Given the description of an element on the screen output the (x, y) to click on. 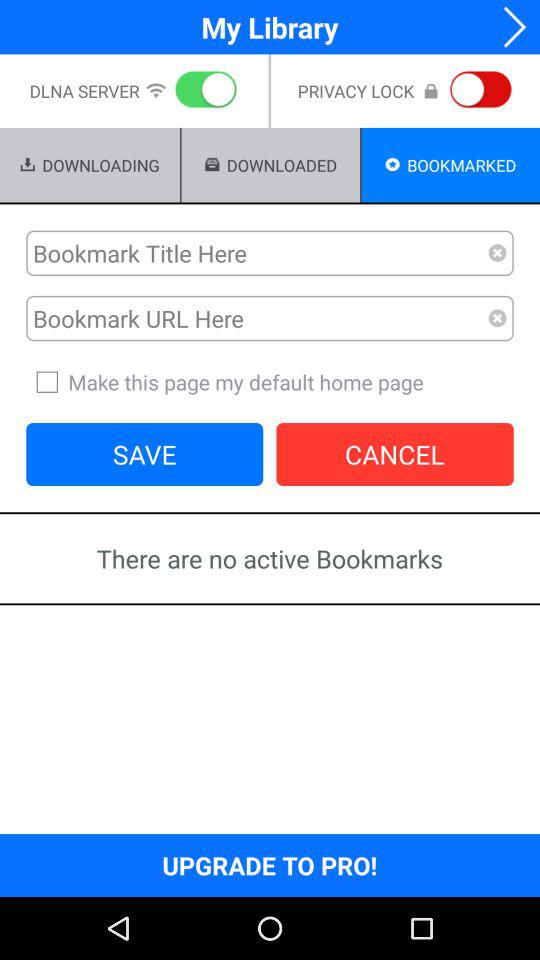
press button next to cancel item (144, 454)
